Given the description of an element on the screen output the (x, y) to click on. 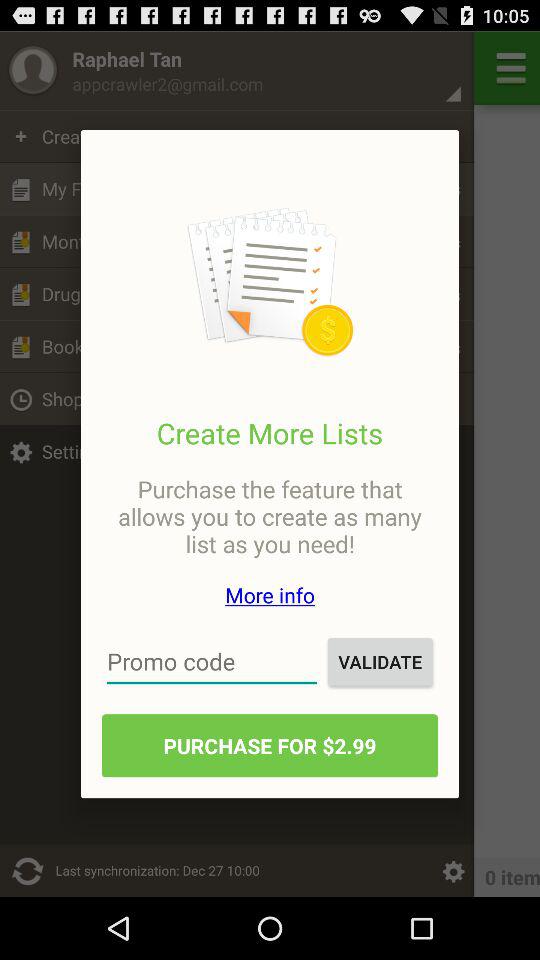
click the icon below more info item (379, 661)
